Given the description of an element on the screen output the (x, y) to click on. 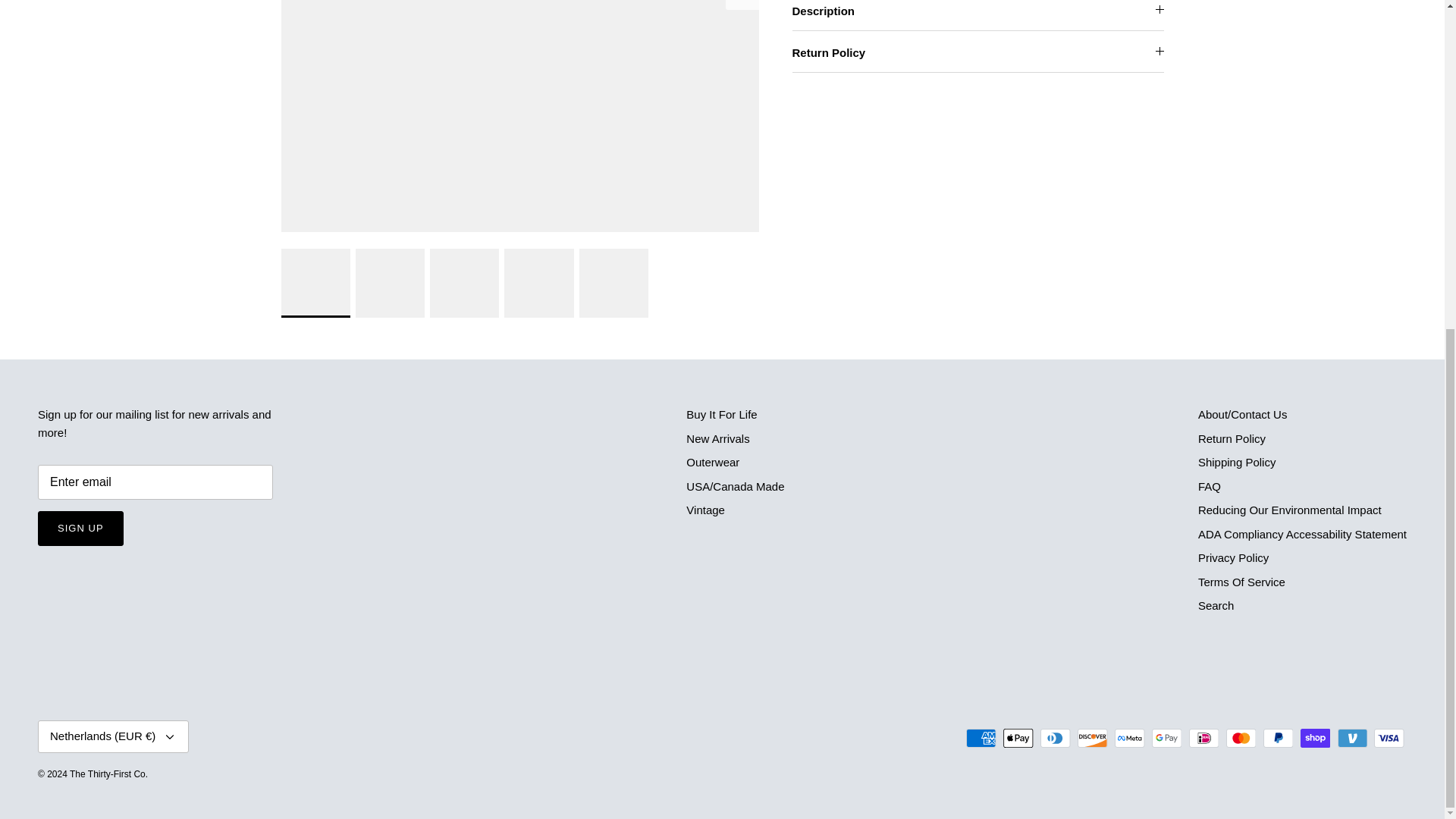
iDEAL (1203, 737)
Venmo (1352, 737)
Meta Pay (1129, 737)
Diners Club (1055, 737)
Mastercard (1240, 737)
Down (169, 736)
PayPal (1277, 737)
American Express (980, 737)
RIGHT (741, 2)
Visa (1388, 737)
Apple Pay (1018, 737)
Discover (1092, 737)
Google Pay (1166, 737)
Shop Pay (1315, 737)
